Given the description of an element on the screen output the (x, y) to click on. 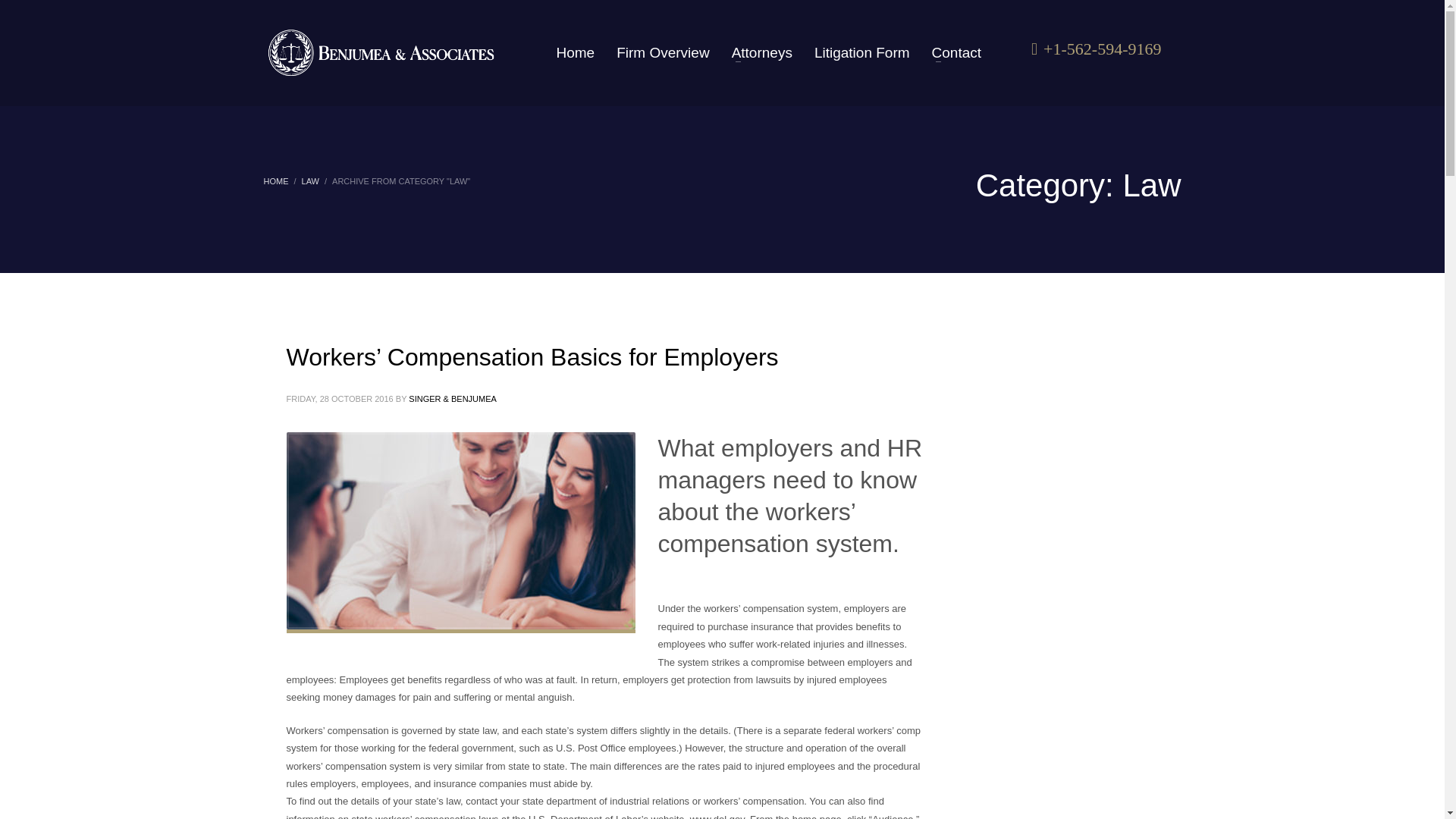
credit-union-what-it-means-to-millennials (460, 530)
LAW (309, 180)
Employer's Workers' Compensation (381, 52)
Contact (952, 52)
Home (575, 52)
Litigation Form (861, 52)
Attorneys (762, 52)
Firm Overview (662, 52)
HOME (275, 180)
